Given the description of an element on the screen output the (x, y) to click on. 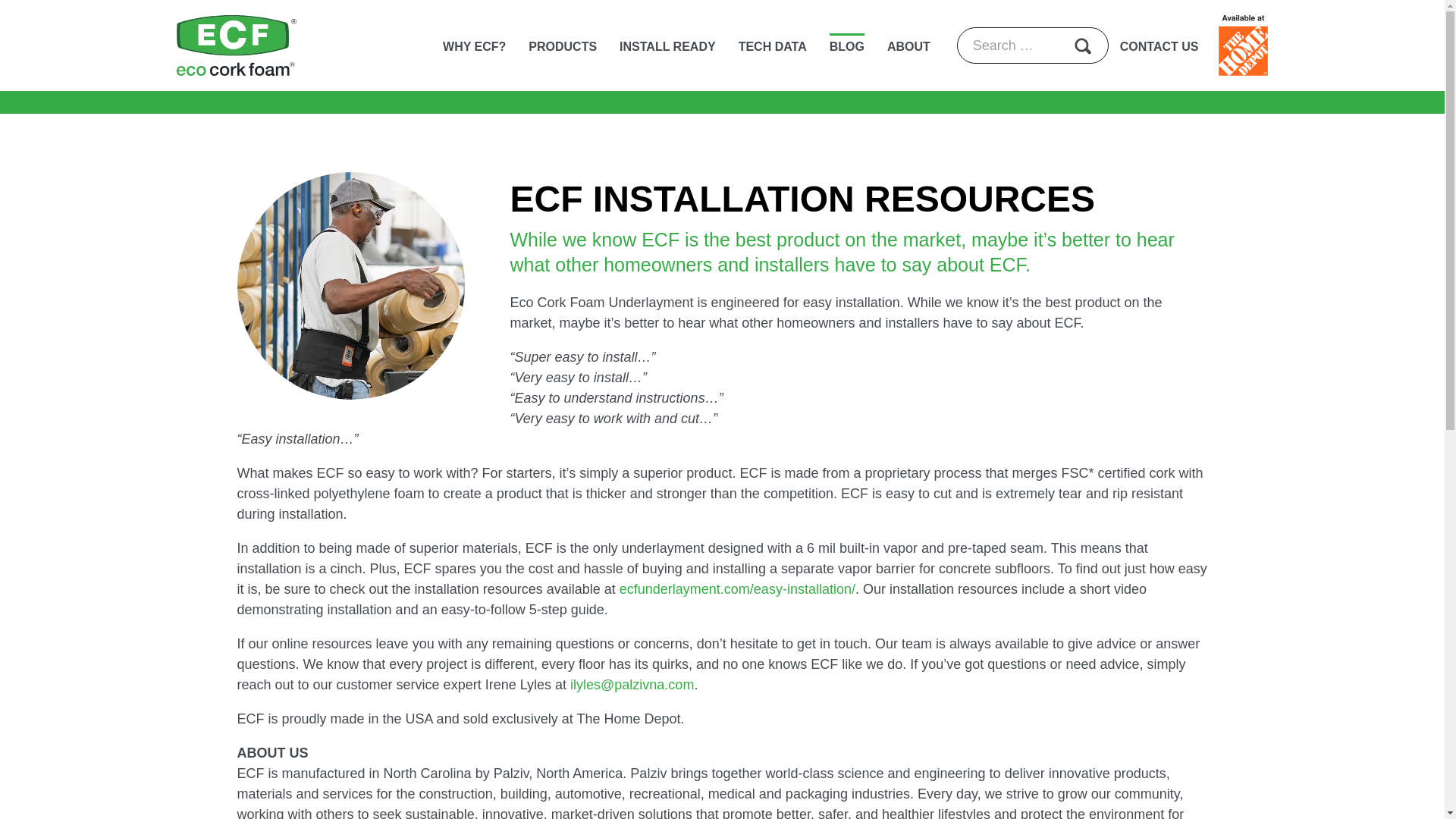
Search (1083, 45)
Eco Cork Foam (236, 45)
Search (1083, 45)
